Given the description of an element on the screen output the (x, y) to click on. 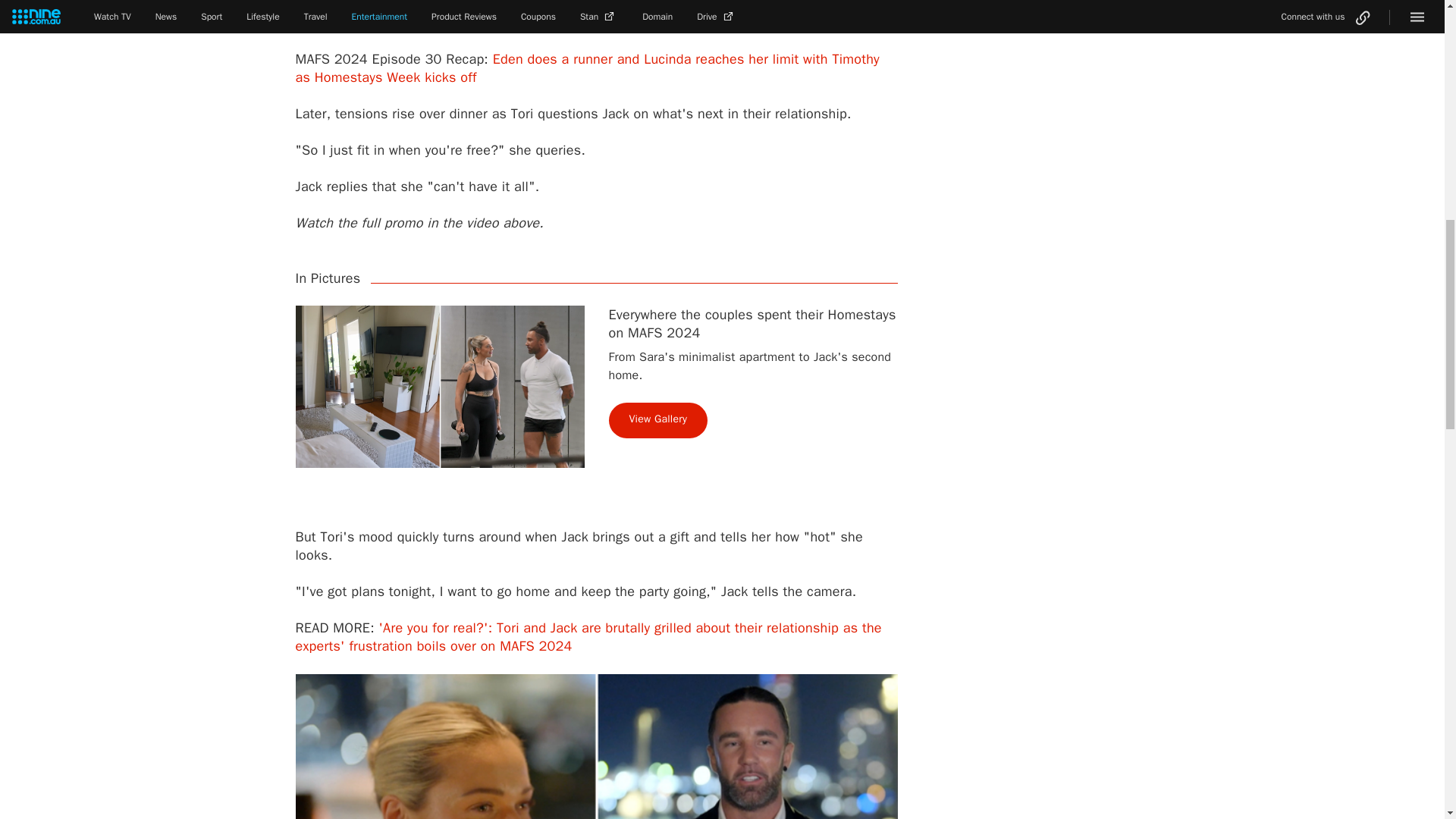
View Gallery (657, 420)
